Given the description of an element on the screen output the (x, y) to click on. 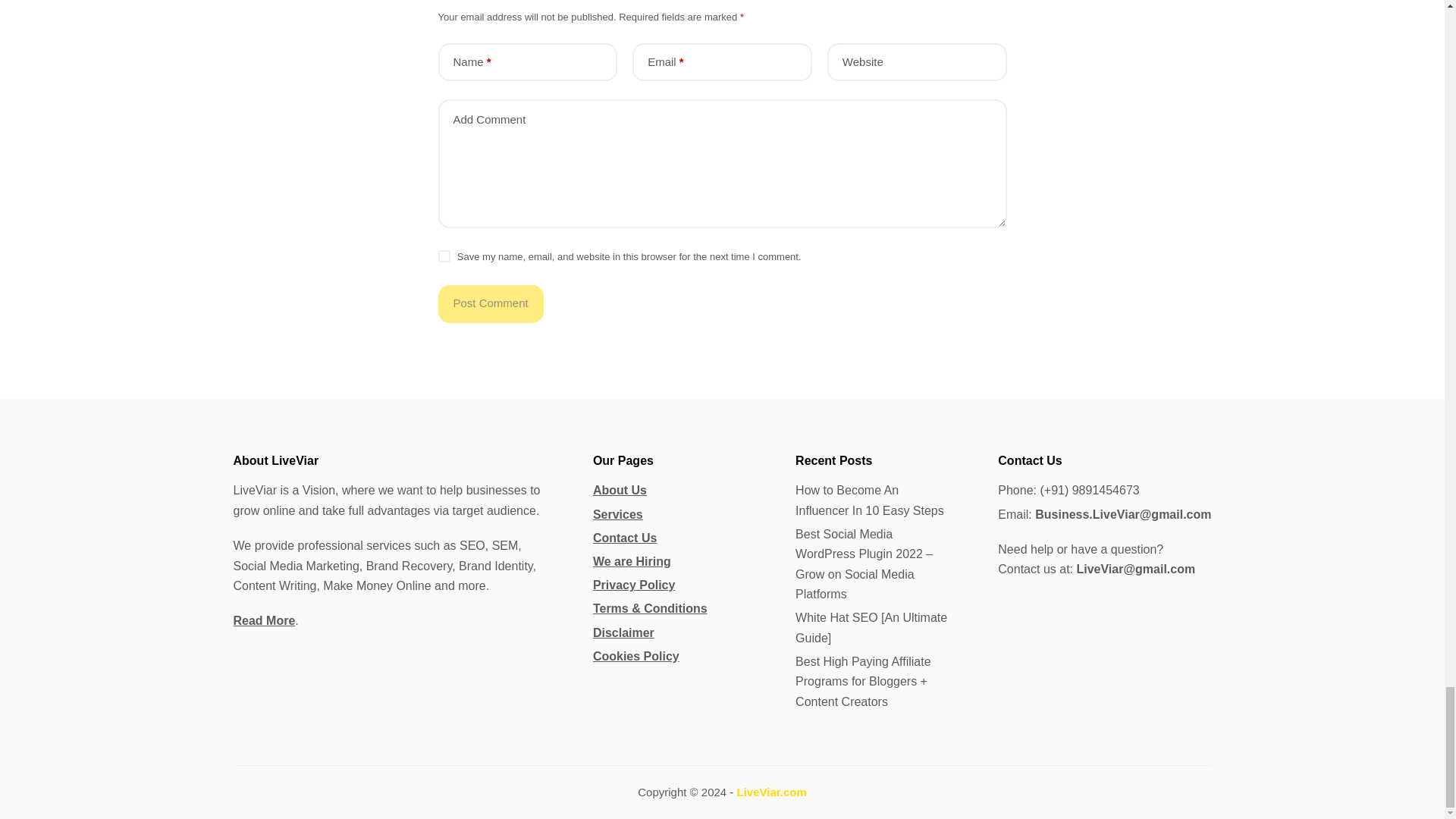
Disclaimer (622, 632)
yes (443, 256)
Contact Us (624, 537)
Post Comment (490, 303)
Privacy Policy (633, 584)
We are Hiring (631, 561)
Services (617, 513)
About Us (619, 490)
Read More (263, 620)
